Given the description of an element on the screen output the (x, y) to click on. 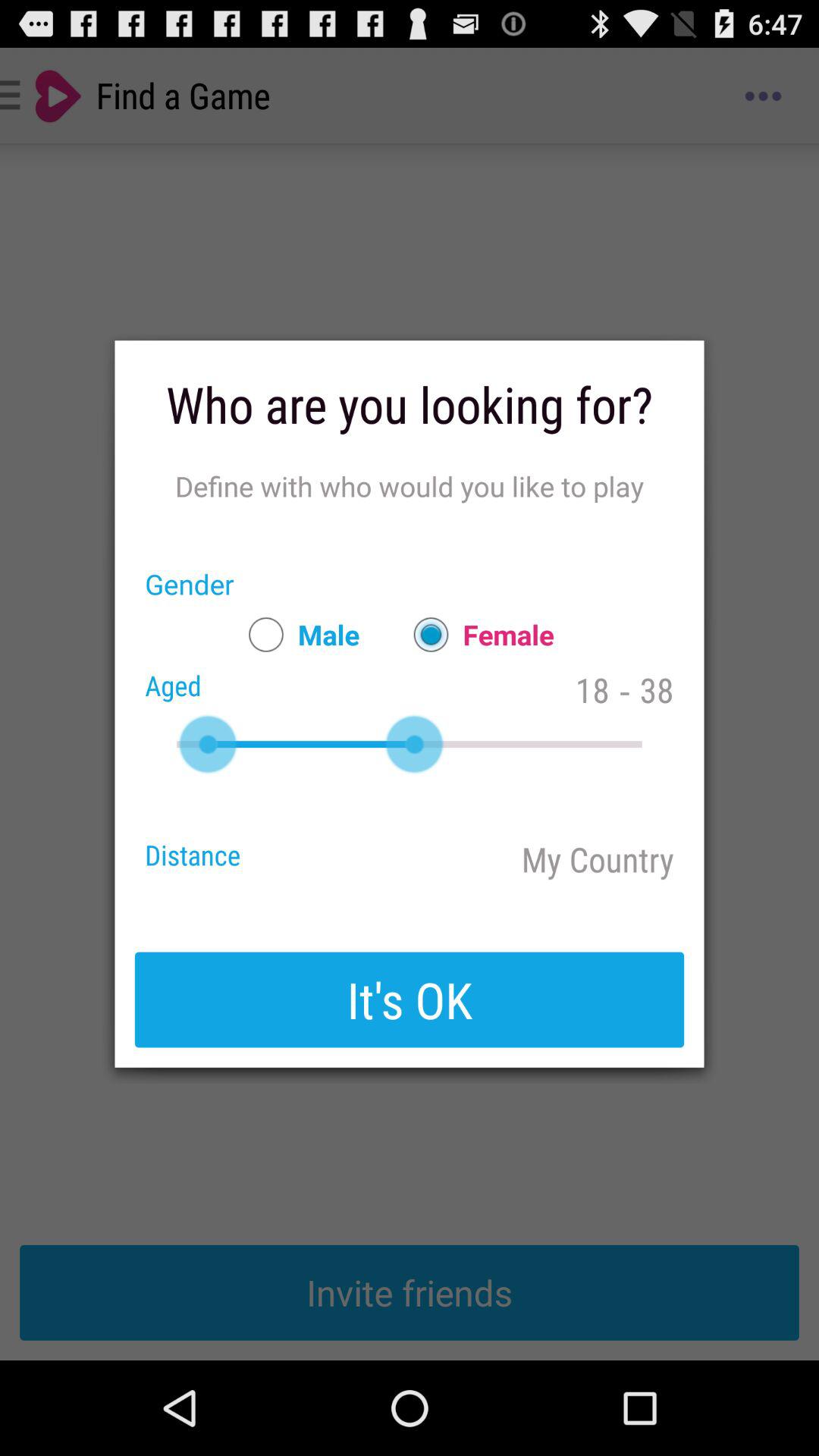
choose the item below the my country app (409, 999)
